Given the description of an element on the screen output the (x, y) to click on. 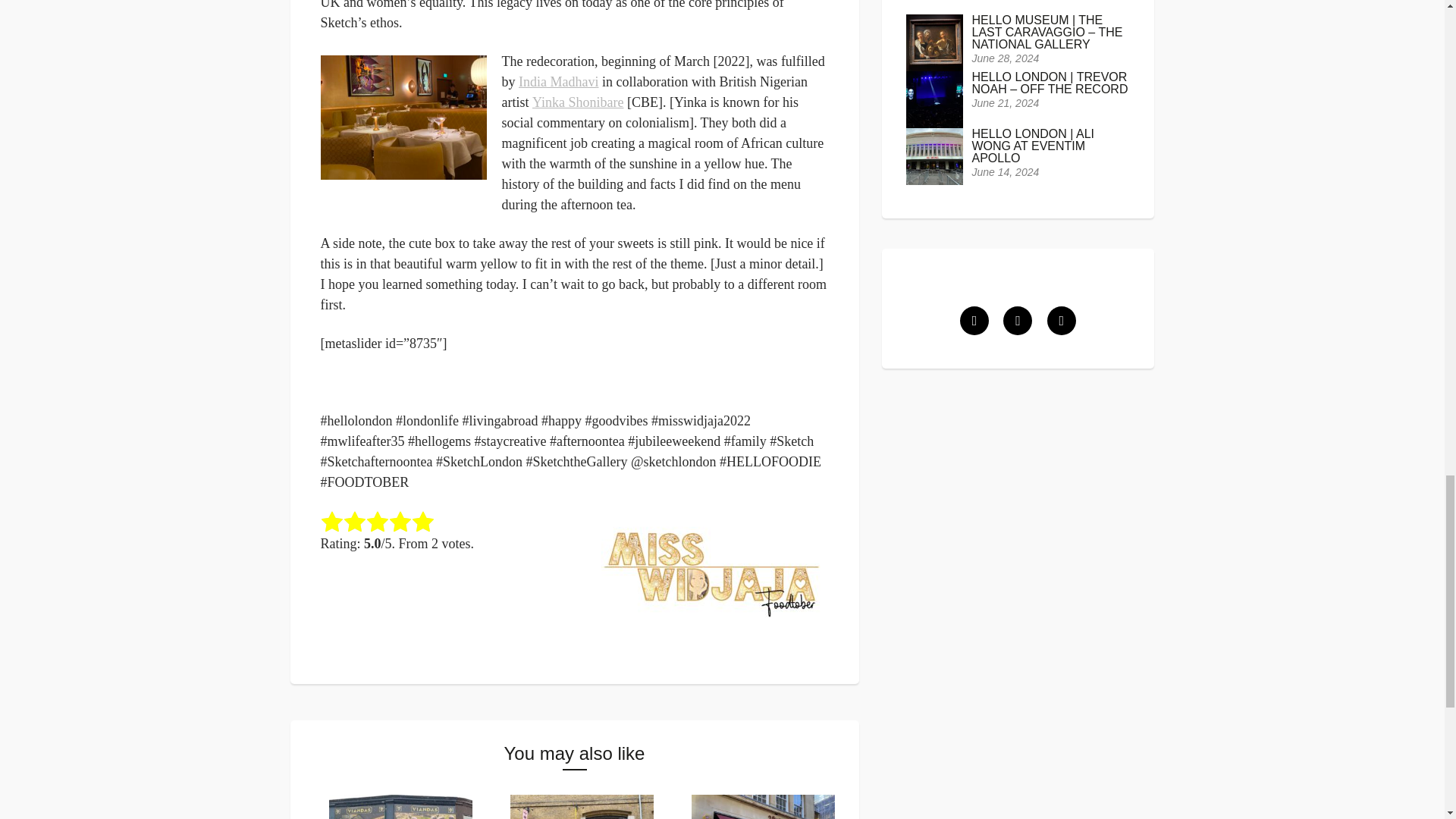
India Madhavi (558, 81)
Yinka Shonibare (577, 102)
